Given the description of an element on the screen output the (x, y) to click on. 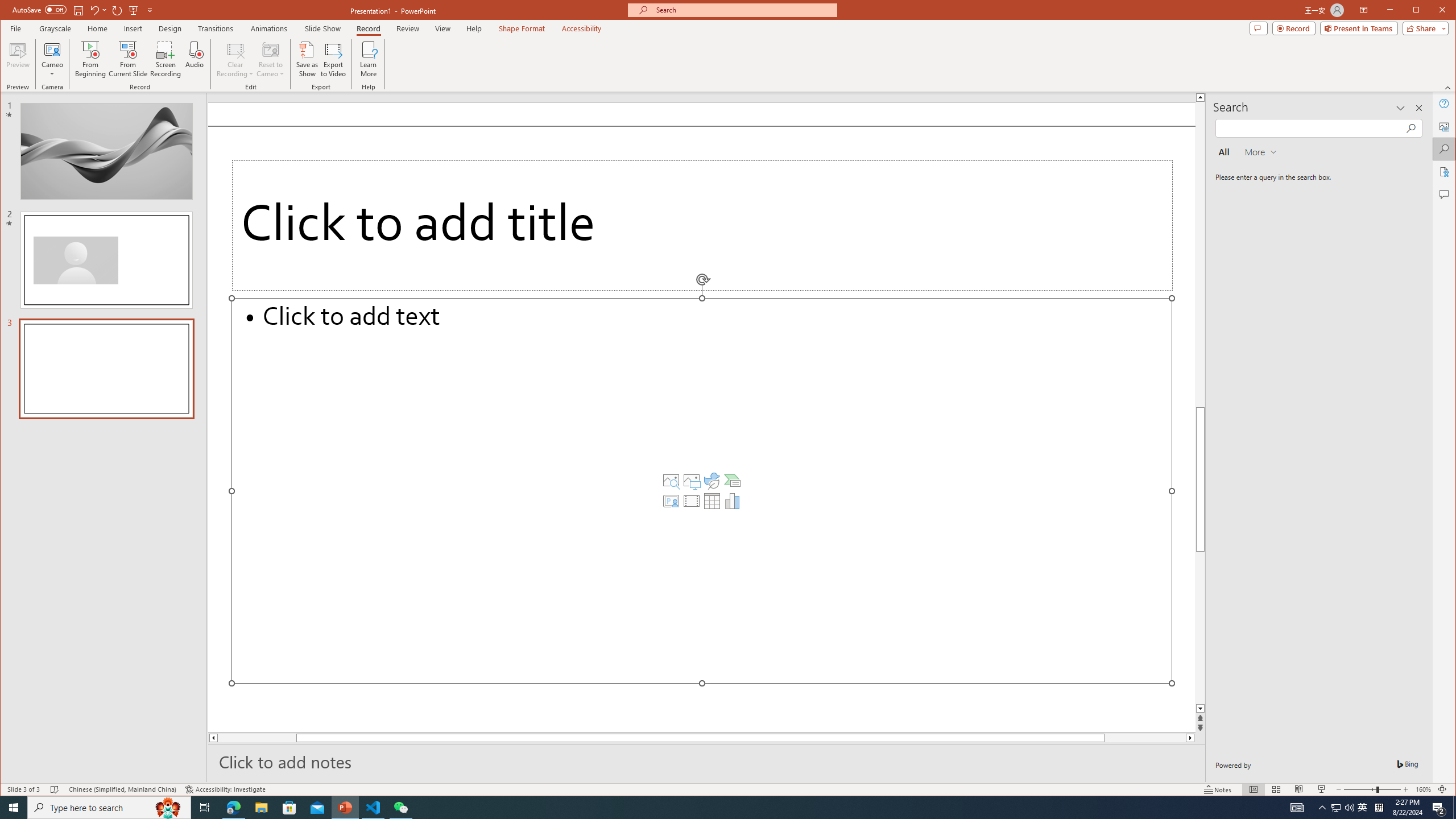
Zoom 160% (1422, 789)
